Given the description of an element on the screen output the (x, y) to click on. 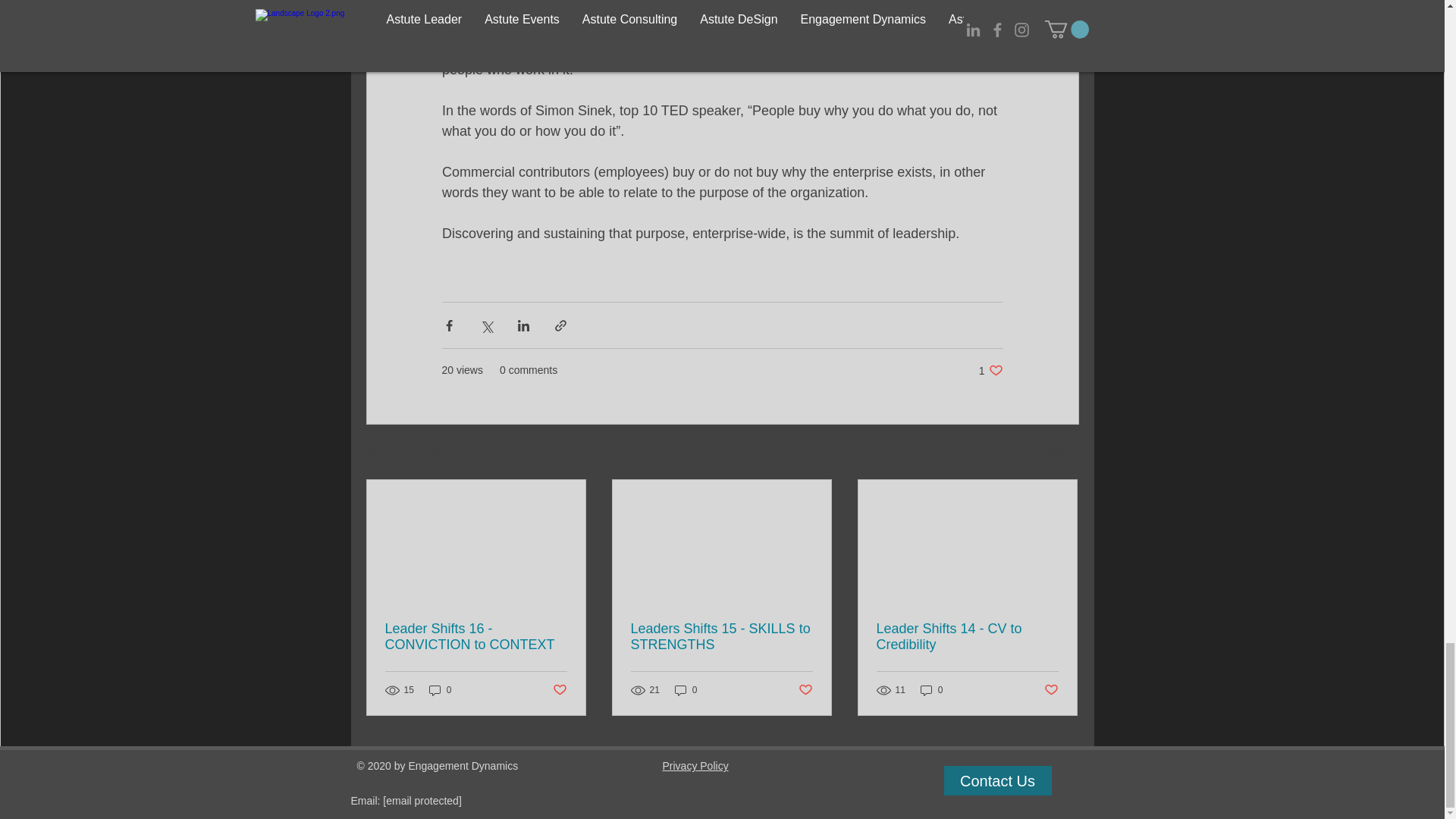
See All (990, 370)
